Given the description of an element on the screen output the (x, y) to click on. 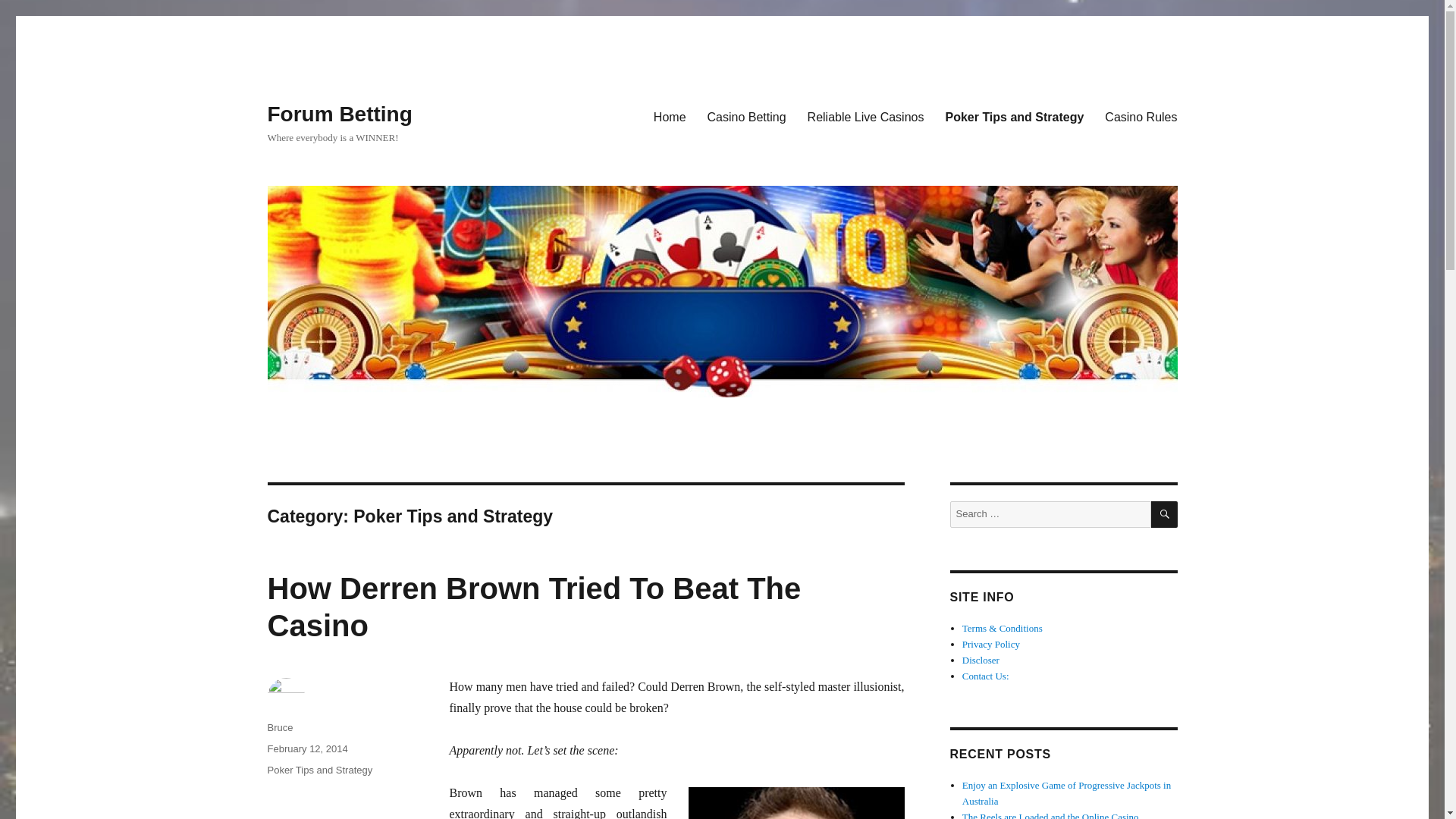
Casino Betting (746, 116)
SEARCH (1164, 514)
Forum Betting (339, 114)
Enjoy an Explosive Game of Progressive Jackpots in Australia (1066, 792)
February 12, 2014 (306, 748)
Casino Rules (1141, 116)
Privacy Policy (991, 644)
Discloser (980, 659)
Poker Tips and Strategy (1014, 116)
Bruce (279, 727)
Home (670, 116)
Reliable Live Casinos (865, 116)
Contact Us: (985, 675)
Poker Tips and Strategy (319, 769)
